Given the description of an element on the screen output the (x, y) to click on. 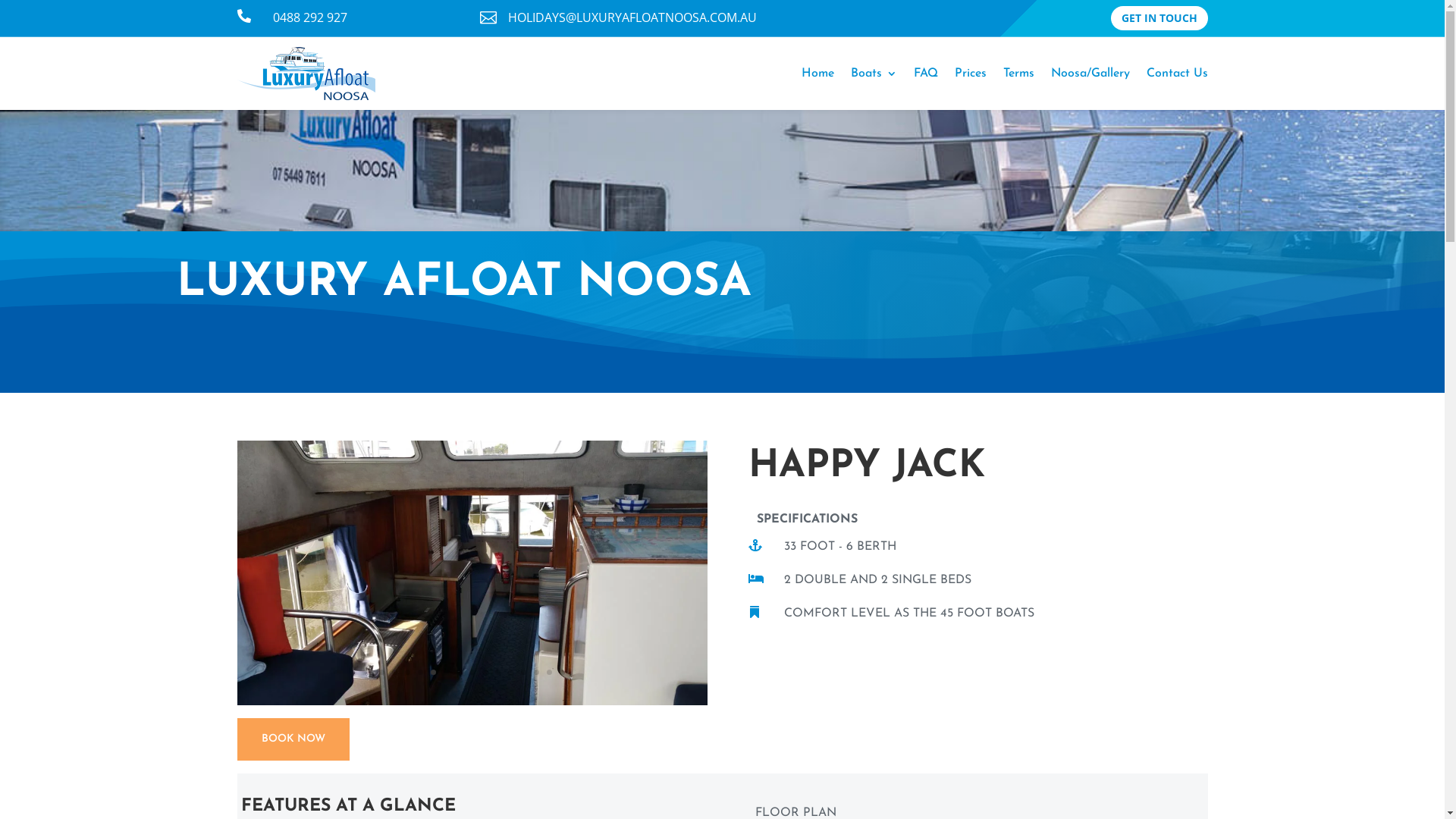
0488 292 927 Element type: text (310, 17)
8 Element type: text (471, 671)
Terms Element type: text (1017, 73)
6 Element type: text (445, 671)
14 Element type: text (549, 671)
7 Element type: text (458, 671)
13 Element type: text (536, 671)
3 Element type: text (407, 671)
2 Element type: text (394, 671)
1 Element type: text (381, 671)
15 Element type: text (561, 671)
10 Element type: text (497, 671)
GET IN TOUCH Element type: text (1158, 18)
5 Element type: text (433, 671)
20160711_112233 Element type: hover (471, 700)
12 Element type: text (523, 671)
BOOK NOW Element type: text (292, 739)
FAQ Element type: text (925, 73)
11 Element type: text (510, 671)
Home Element type: text (816, 73)
Contact Us Element type: text (1177, 73)
Noosa/Gallery Element type: text (1090, 73)
4 Element type: text (420, 671)
Prices Element type: text (969, 73)
HOLIDAYS@LUXURYAFLOATNOOSA.COM.AU Element type: text (632, 17)
Boats Element type: text (873, 73)
9 Element type: text (484, 671)
